Given the description of an element on the screen output the (x, y) to click on. 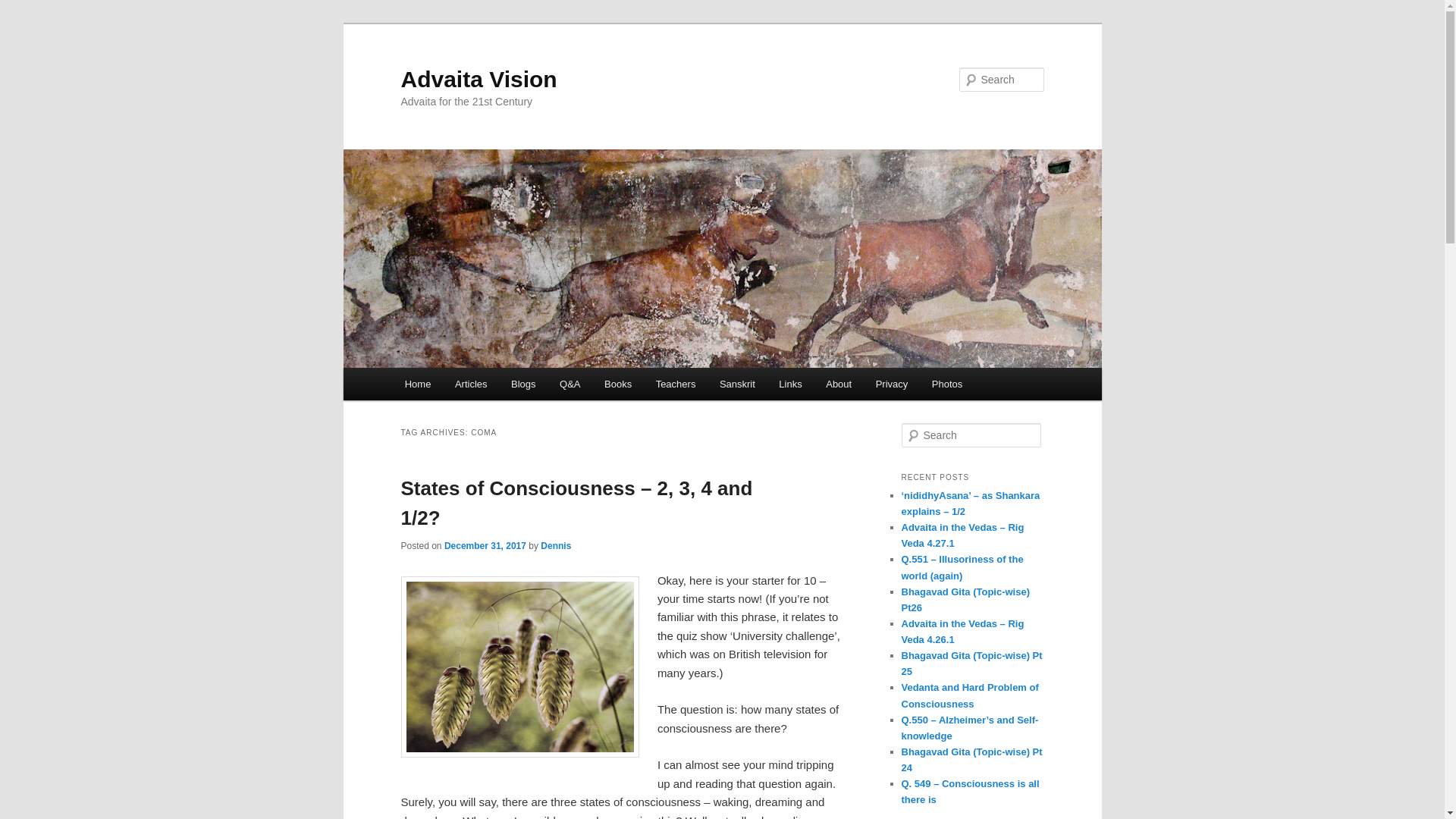
Articles (470, 383)
Home (417, 383)
About (838, 383)
Teachers (675, 383)
December 31, 2017 (484, 545)
Search (24, 8)
